Given the description of an element on the screen output the (x, y) to click on. 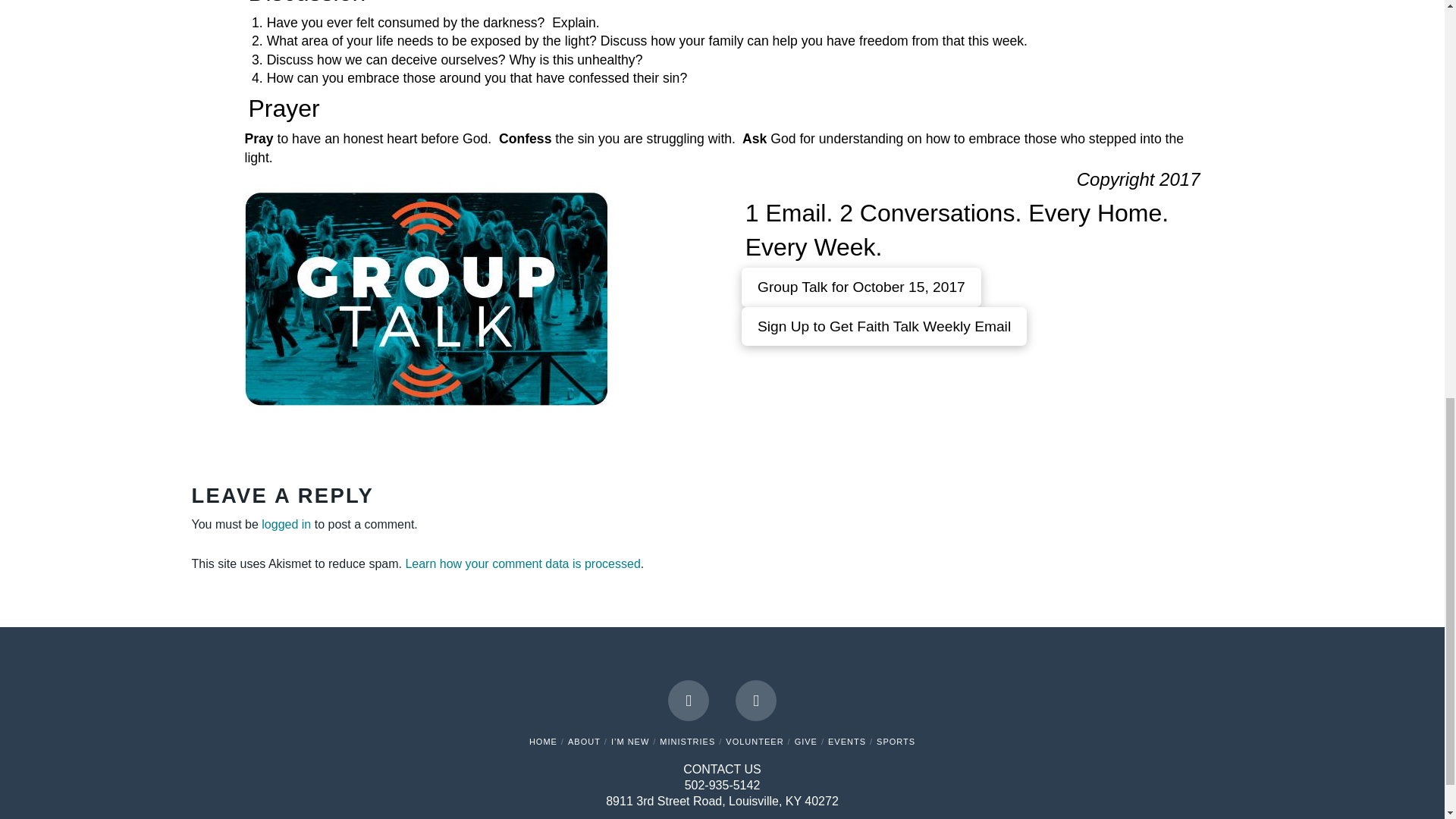
logged in (286, 523)
Instagram (755, 700)
Learn how your comment data is processed (522, 563)
Group Talk for October 15, 2017 (861, 286)
ABOUT (583, 741)
Sign Up to Get Faith Talk Weekly Email (884, 326)
HOME (543, 741)
Facebook (688, 700)
